Given the description of an element on the screen output the (x, y) to click on. 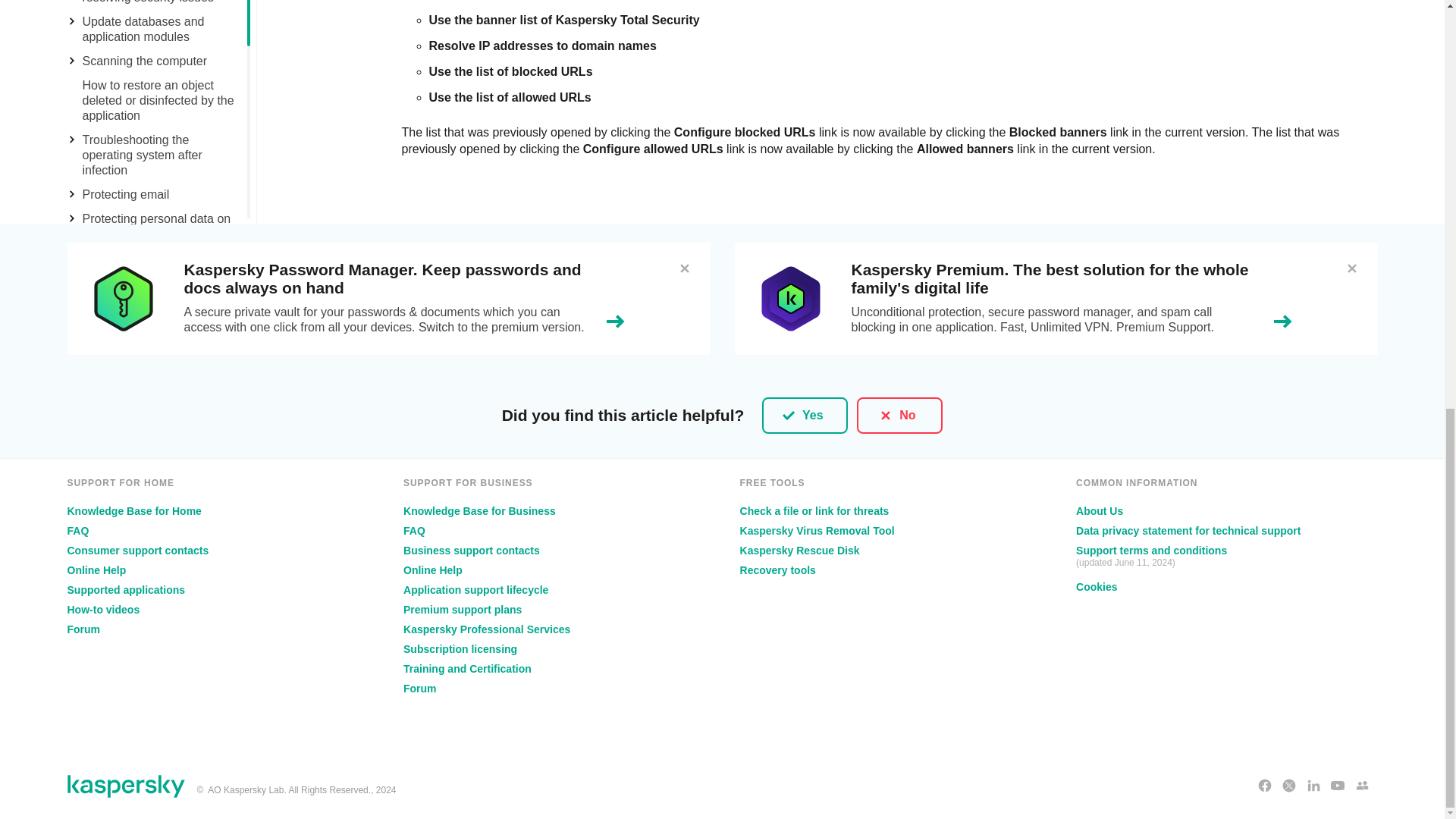
Close (1350, 268)
Close (684, 268)
